Given the description of an element on the screen output the (x, y) to click on. 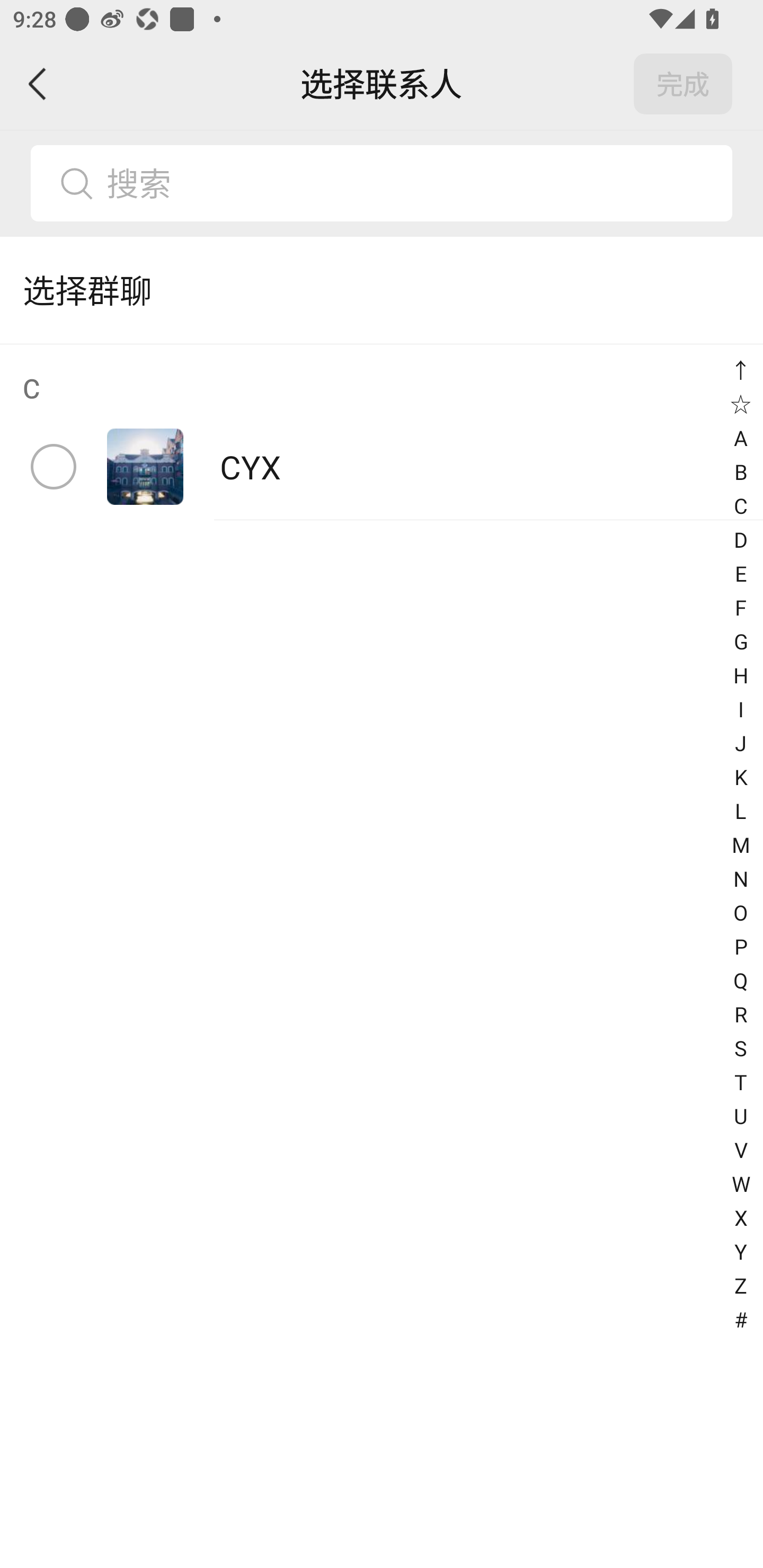
返回 (38, 83)
完成 (683, 83)
搜索 (381, 183)
搜索 (411, 183)
选择群聊 (381, 290)
C CYX (381, 432)
